Given the description of an element on the screen output the (x, y) to click on. 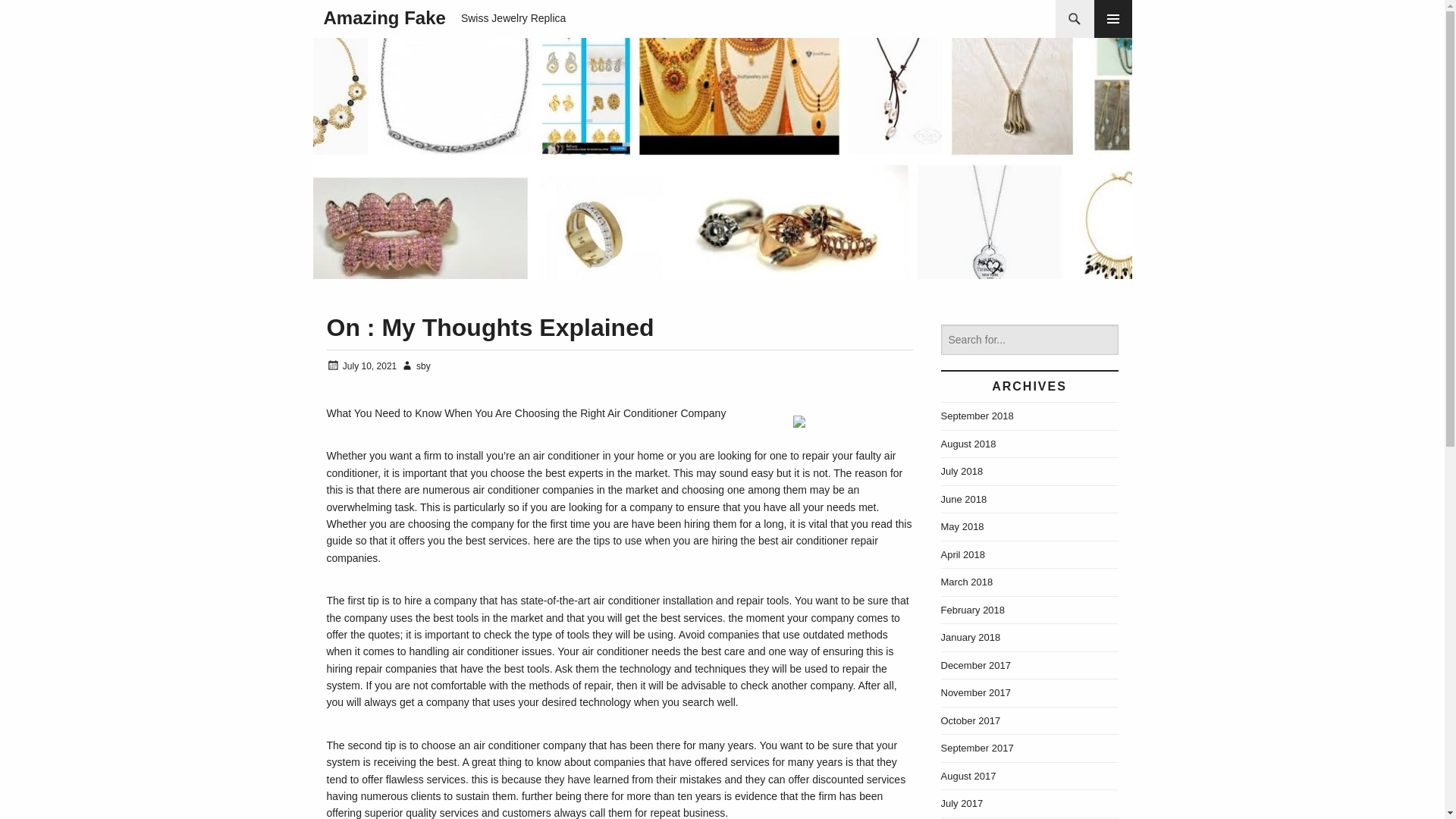
October 2017 (970, 719)
Search (40, 18)
September 2017 (976, 747)
December 2017 (975, 665)
September 2018 (976, 415)
November 2017 (975, 692)
July 2017 (961, 803)
August 2018 (967, 443)
June 2018 (963, 498)
July 2018 (961, 471)
February 2018 (972, 609)
January 2018 (970, 636)
August 2017 (967, 776)
May 2018 (962, 526)
March 2018 (966, 582)
